Given the description of an element on the screen output the (x, y) to click on. 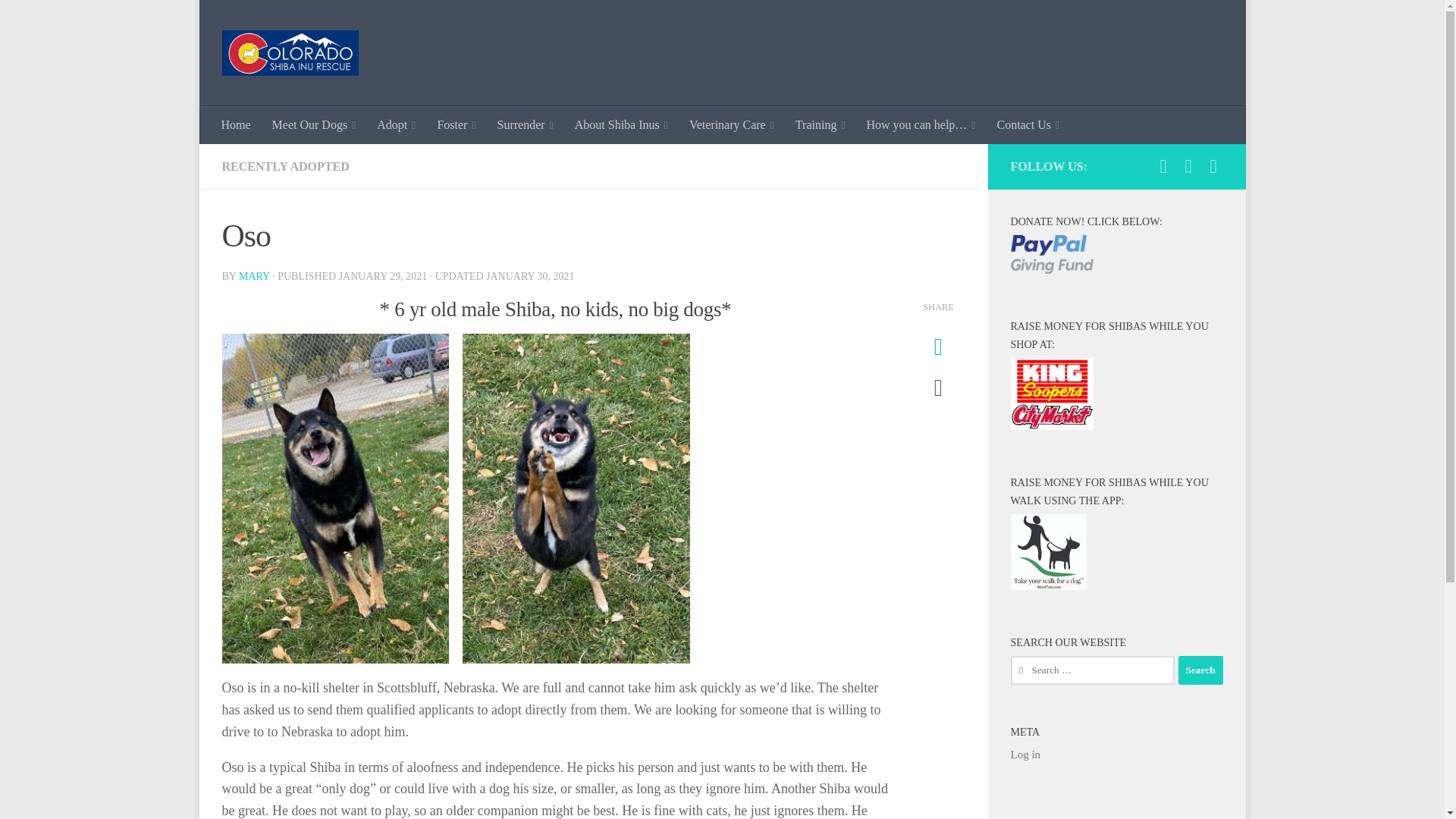
Follow us on Instagram (1186, 166)
Raise money for Shibas while you walk using the app: (1048, 551)
Skip to content (258, 20)
Raise money for Shibas while you shop at: (1051, 393)
Follow us on Facebook (1163, 166)
DONATE NOW! Click below: (1051, 254)
Follow us on Twitter (1213, 166)
Search (1200, 670)
Posts by Mary (253, 276)
Search (1200, 670)
